Given the description of an element on the screen output the (x, y) to click on. 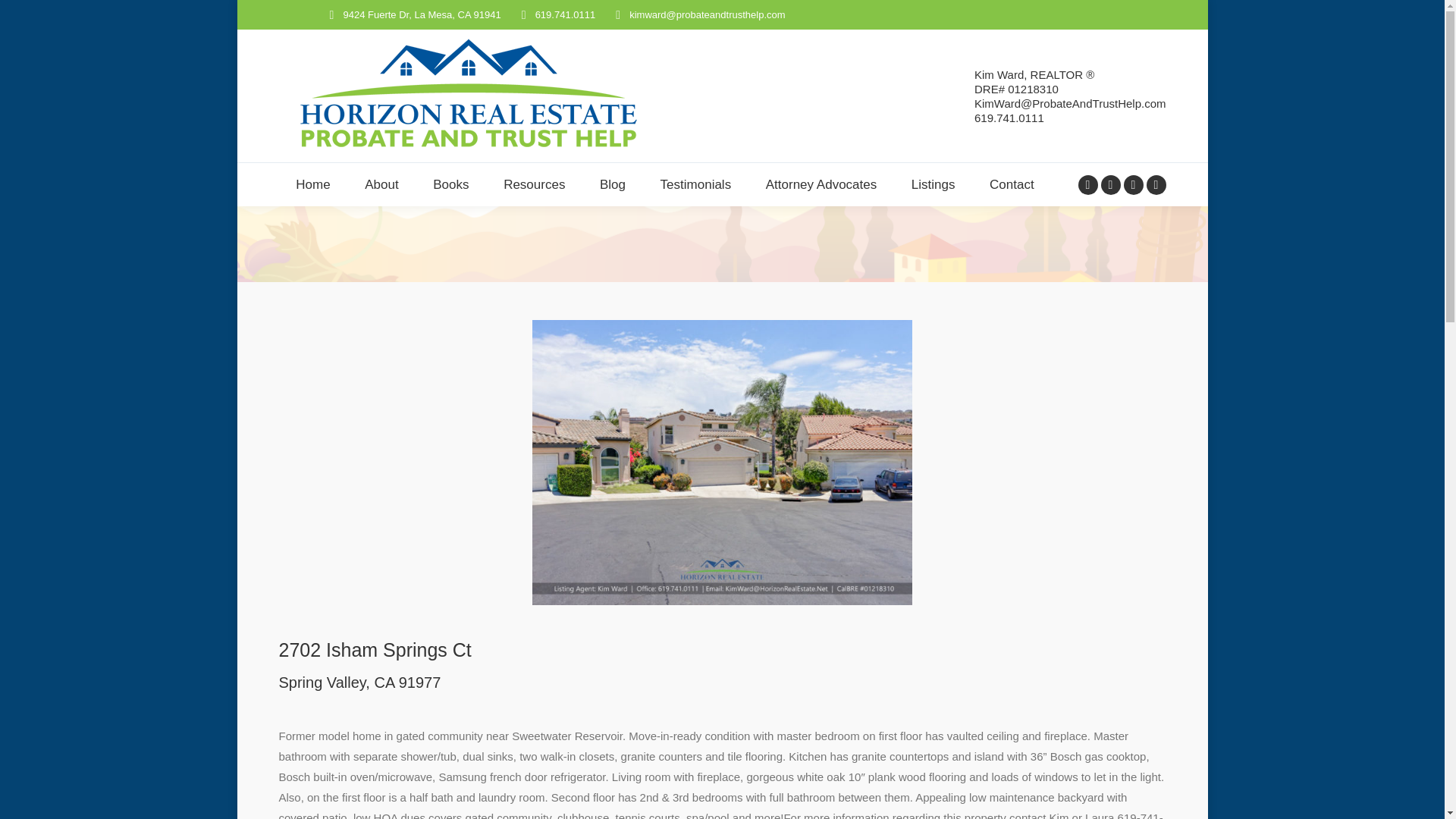
YouTube page opens in new window (1156, 184)
About (381, 184)
Attorney Advocates (820, 184)
Books (450, 184)
Facebook page opens in new window (1087, 184)
Linkedin page opens in new window (1133, 184)
X page opens in new window (1110, 184)
Linkedin page opens in new window (1133, 184)
Contact (1011, 184)
Listings (933, 184)
